Given the description of an element on the screen output the (x, y) to click on. 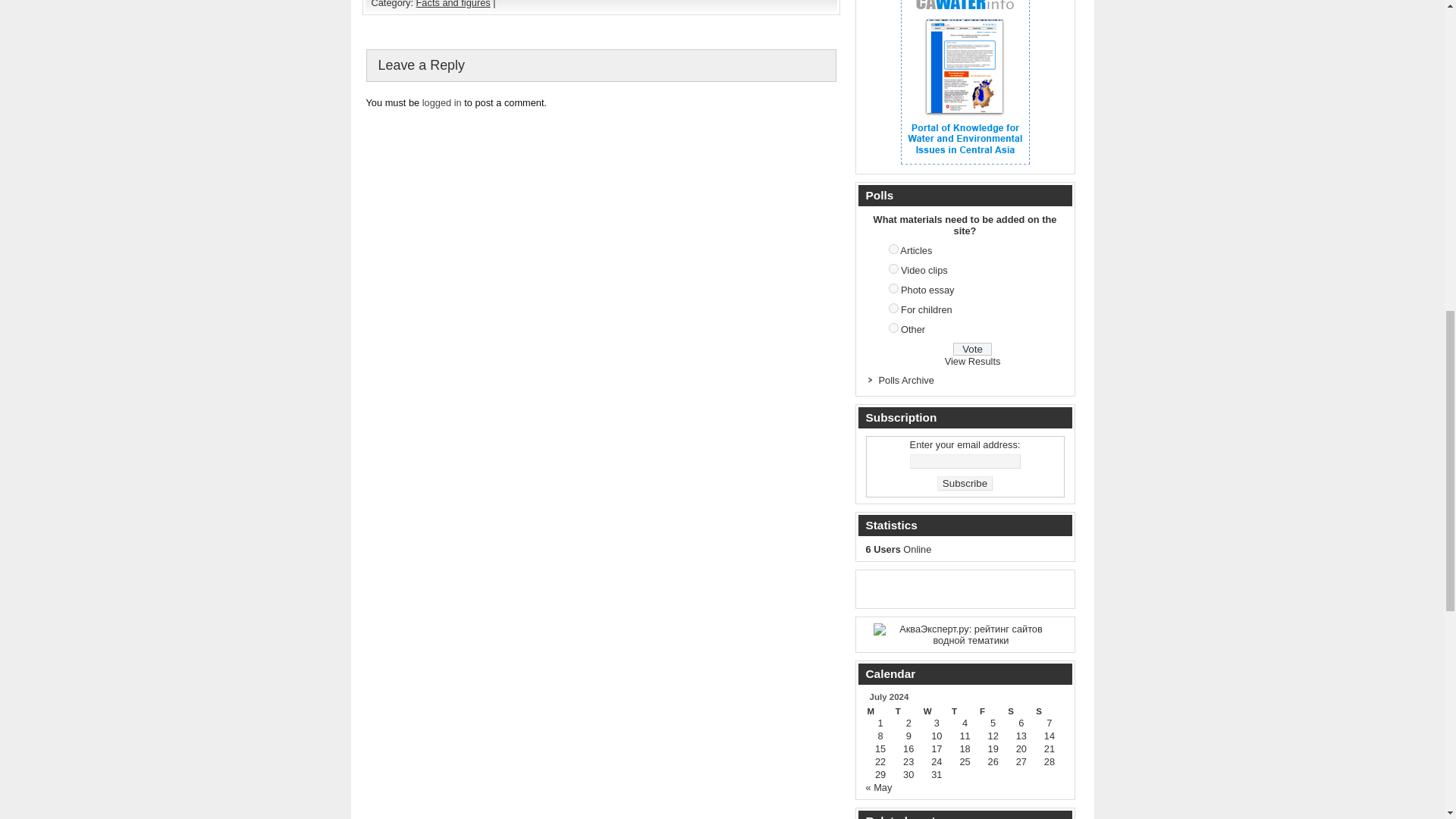
Monday (880, 710)
7 (893, 268)
View Results (972, 360)
View Results Of This Poll (972, 360)
Facts and figures (453, 4)
Subscribe (964, 482)
logged in (441, 102)
6 (893, 248)
9 (893, 307)
Polls Archive (905, 379)
Subscribe (964, 482)
6 Users Online (898, 549)
8 (893, 288)
10 (893, 327)
   Vote    (972, 349)
